Given the description of an element on the screen output the (x, y) to click on. 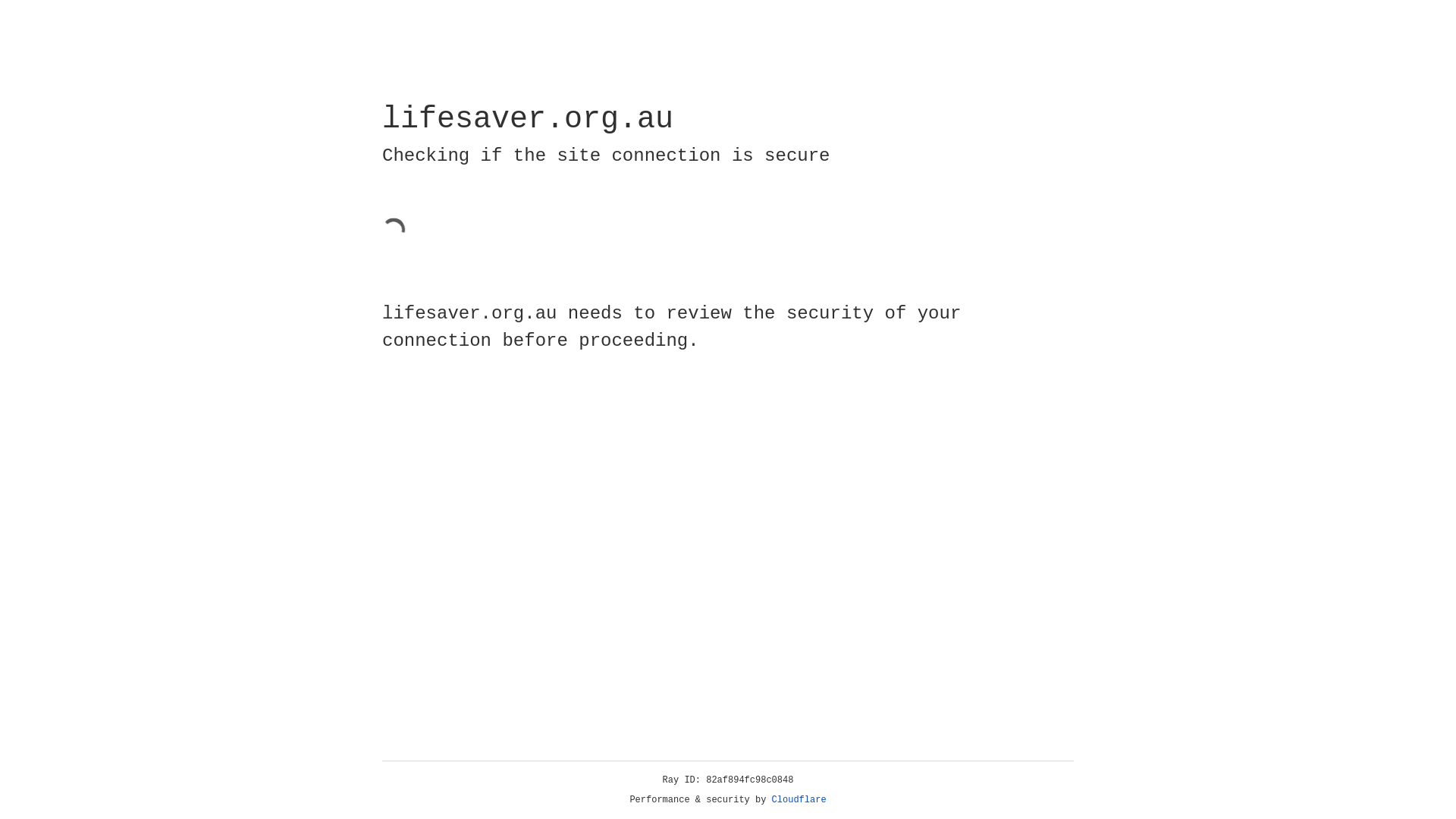
Cloudflare Element type: text (798, 799)
